Given the description of an element on the screen output the (x, y) to click on. 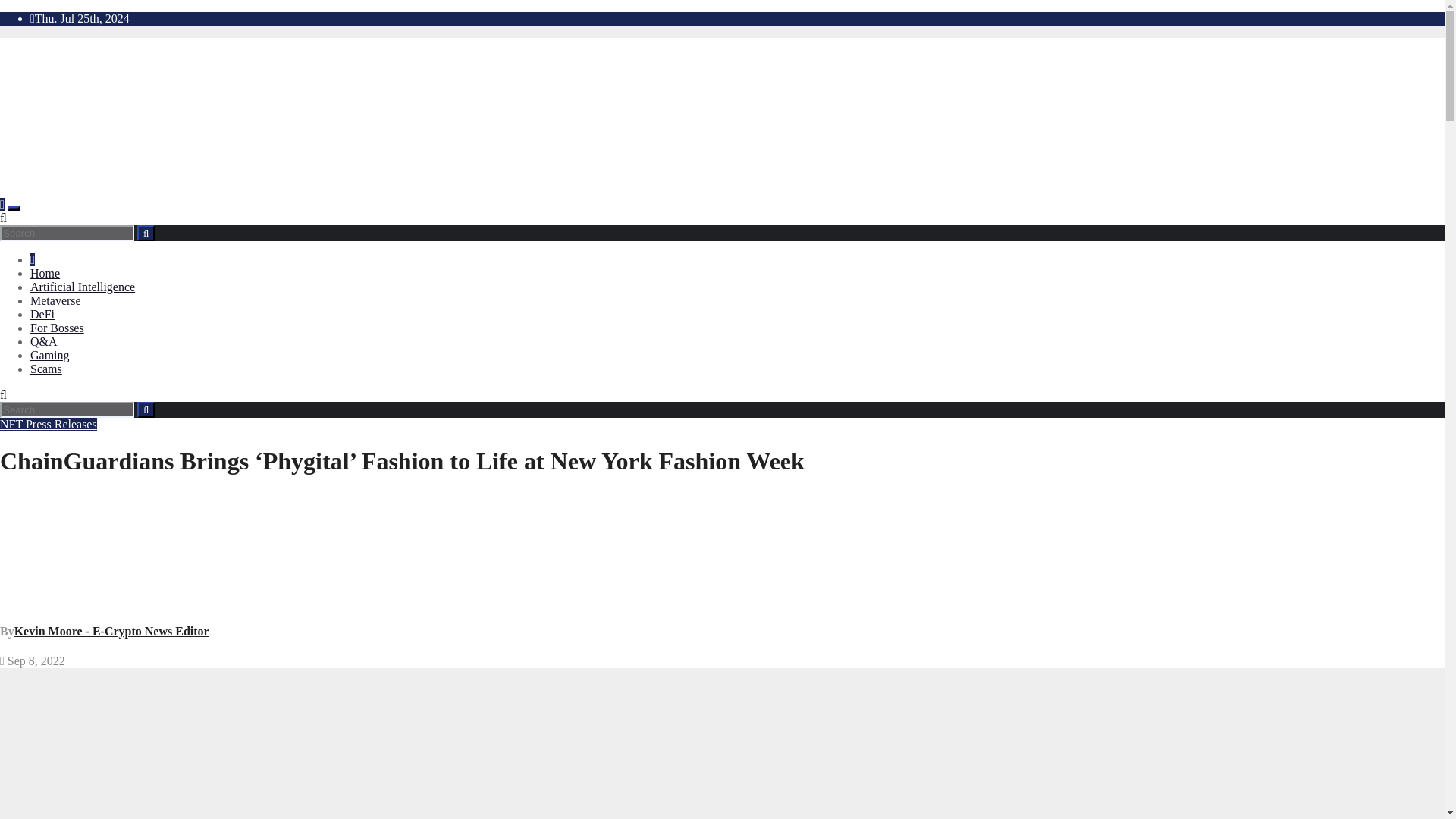
Scams (46, 368)
DeFi (42, 314)
Gaming (49, 354)
For Bosses (57, 327)
E-crypto news-01 - E-Crypto News (305, 115)
Metaverse (55, 300)
Home (44, 273)
Artificial Intelligence (82, 286)
Artificial Intelligence (82, 286)
NFT (13, 423)
Kevin Moore - E-Crypto News Editor (111, 631)
Metaverse (55, 300)
ChainGuardian - E-Crypto News (379, 743)
Press Releases (61, 423)
